Given the description of an element on the screen output the (x, y) to click on. 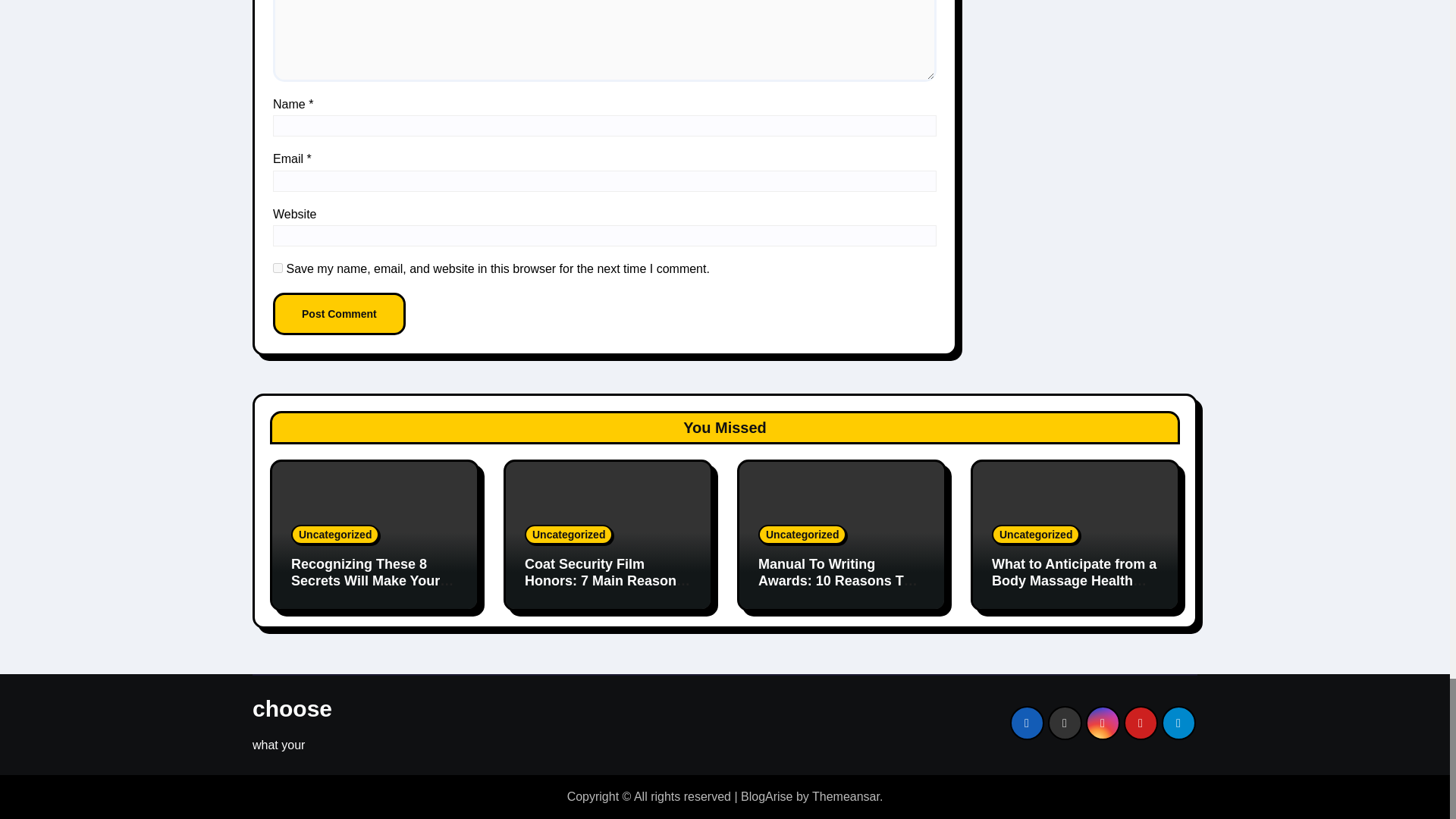
Post Comment (339, 313)
yes (277, 267)
